Given the description of an element on the screen output the (x, y) to click on. 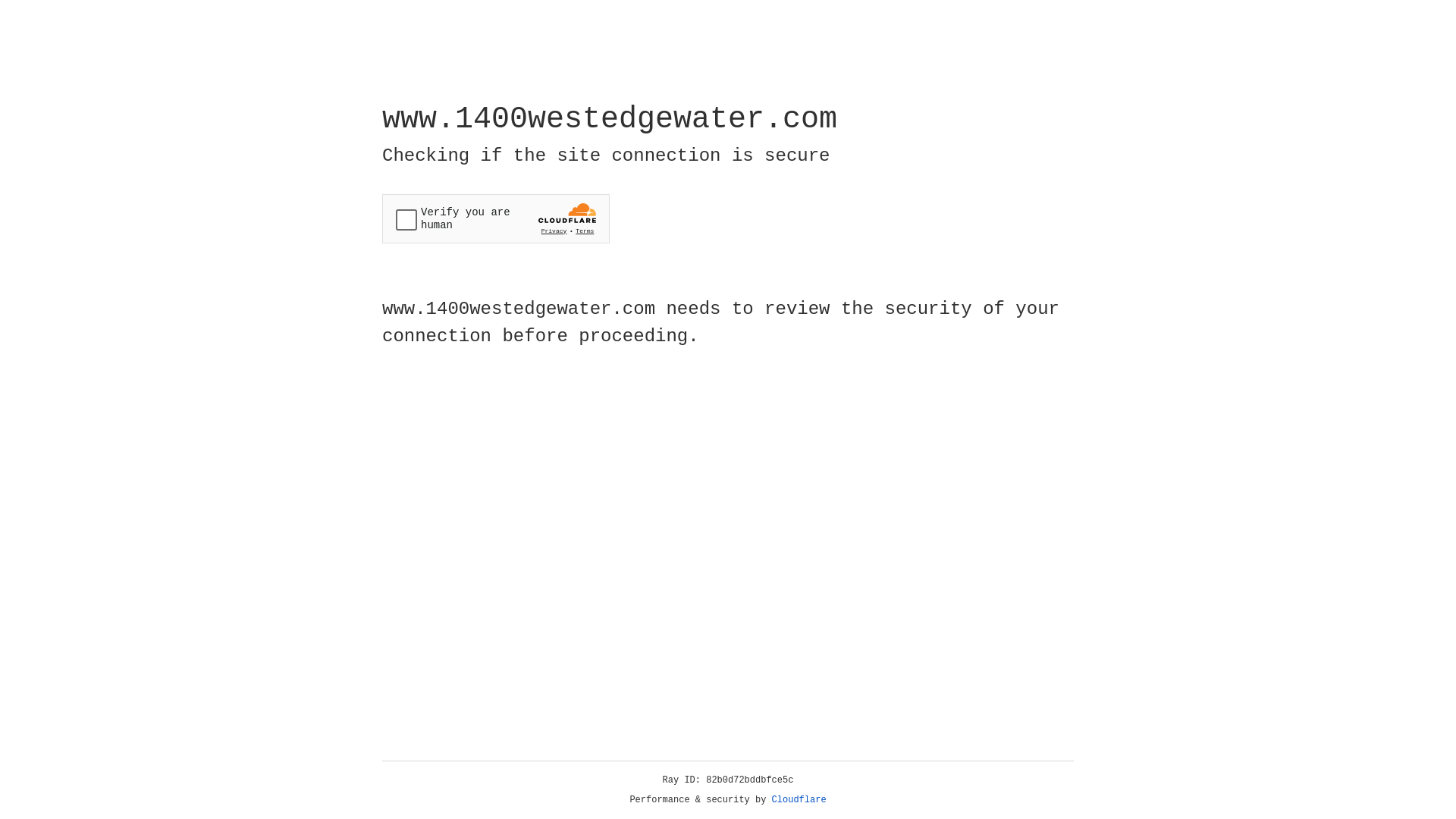
Widget containing a Cloudflare security challenge Element type: hover (495, 218)
Cloudflare Element type: text (798, 799)
